Given the description of an element on the screen output the (x, y) to click on. 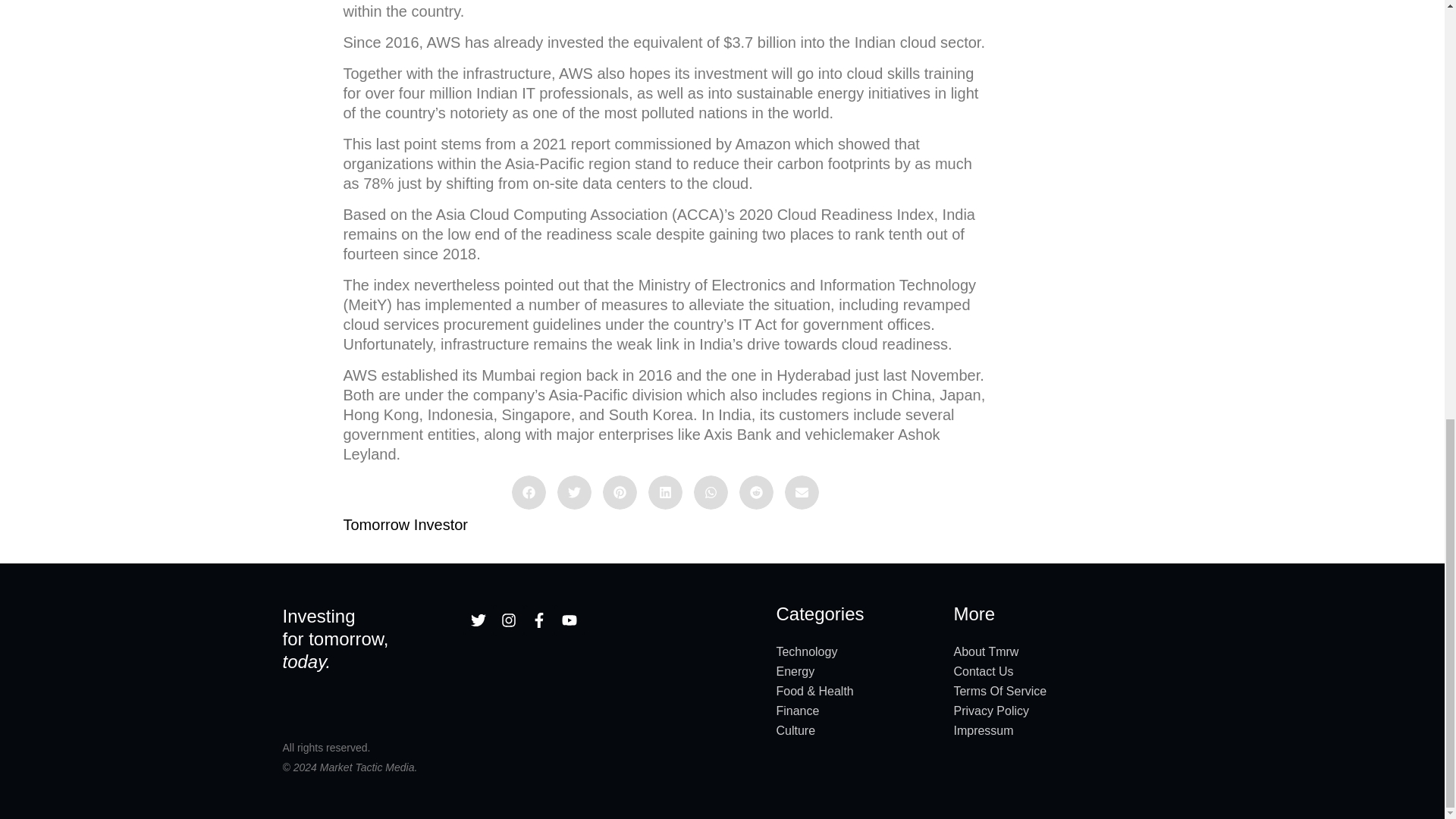
Technology (856, 651)
About Tmrw (1057, 651)
Energy (856, 671)
Privacy Policy (1057, 711)
Finance (856, 711)
Culture (856, 731)
Contact Us (1057, 671)
Terms Of Service (1057, 691)
Impressum (1057, 731)
